Given the description of an element on the screen output the (x, y) to click on. 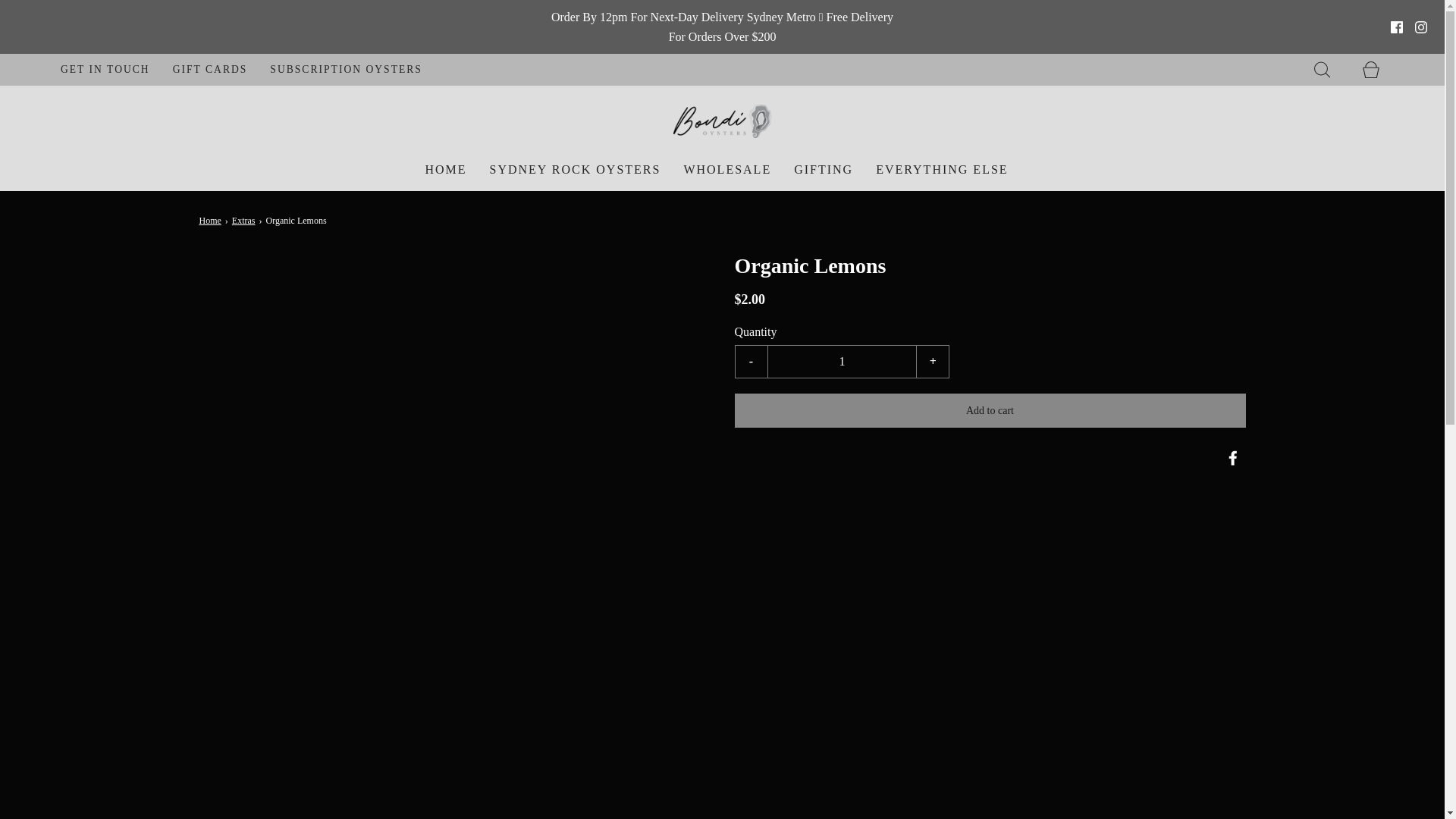
1 (841, 361)
Extras (245, 220)
WHOLESALE (726, 169)
Search (1321, 69)
SUBSCRIPTION OYSTERS (345, 69)
Facebook icon (1396, 27)
SYDNEY ROCK OYSTERS (575, 169)
GET IN TOUCH (105, 69)
EVERYTHING ELSE (941, 169)
Facebook icon (1396, 27)
